Given the description of an element on the screen output the (x, y) to click on. 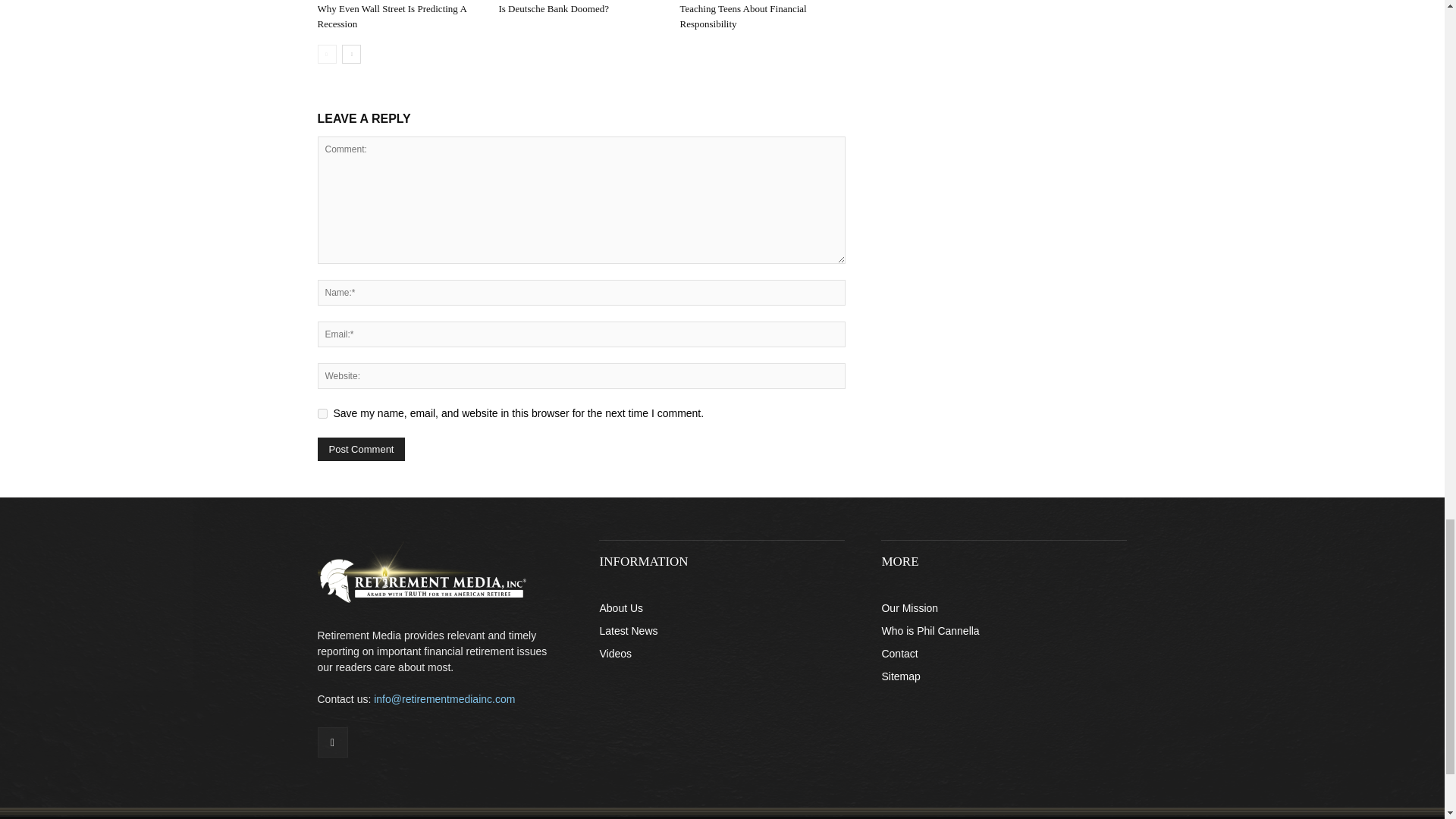
Post Comment (360, 449)
Why Even Wall Street is Predicting a Recession (391, 16)
Teaching Teens About Financial Responsibility (742, 16)
Is Deutsche Bank Doomed? (552, 8)
yes (321, 413)
